Given the description of an element on the screen output the (x, y) to click on. 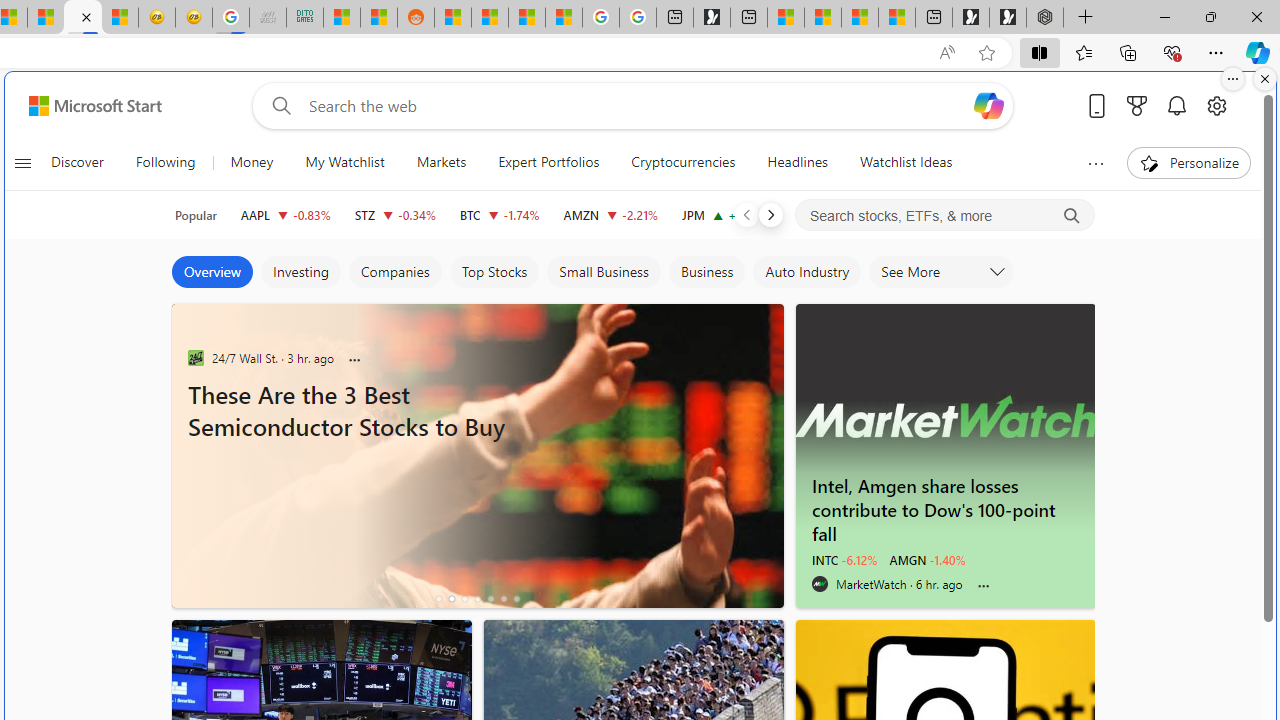
Open settings (1216, 105)
Headlines (797, 162)
Show more topics (1095, 163)
Expert Portfolios (548, 162)
Class: button-glyph (22, 162)
Next (771, 214)
DITOGAMES AG Imprint (304, 17)
AdChoices (767, 313)
Top Stocks (494, 272)
Microsoft rewards (1137, 105)
Open navigation menu (22, 162)
Previous (746, 214)
